Given the description of an element on the screen output the (x, y) to click on. 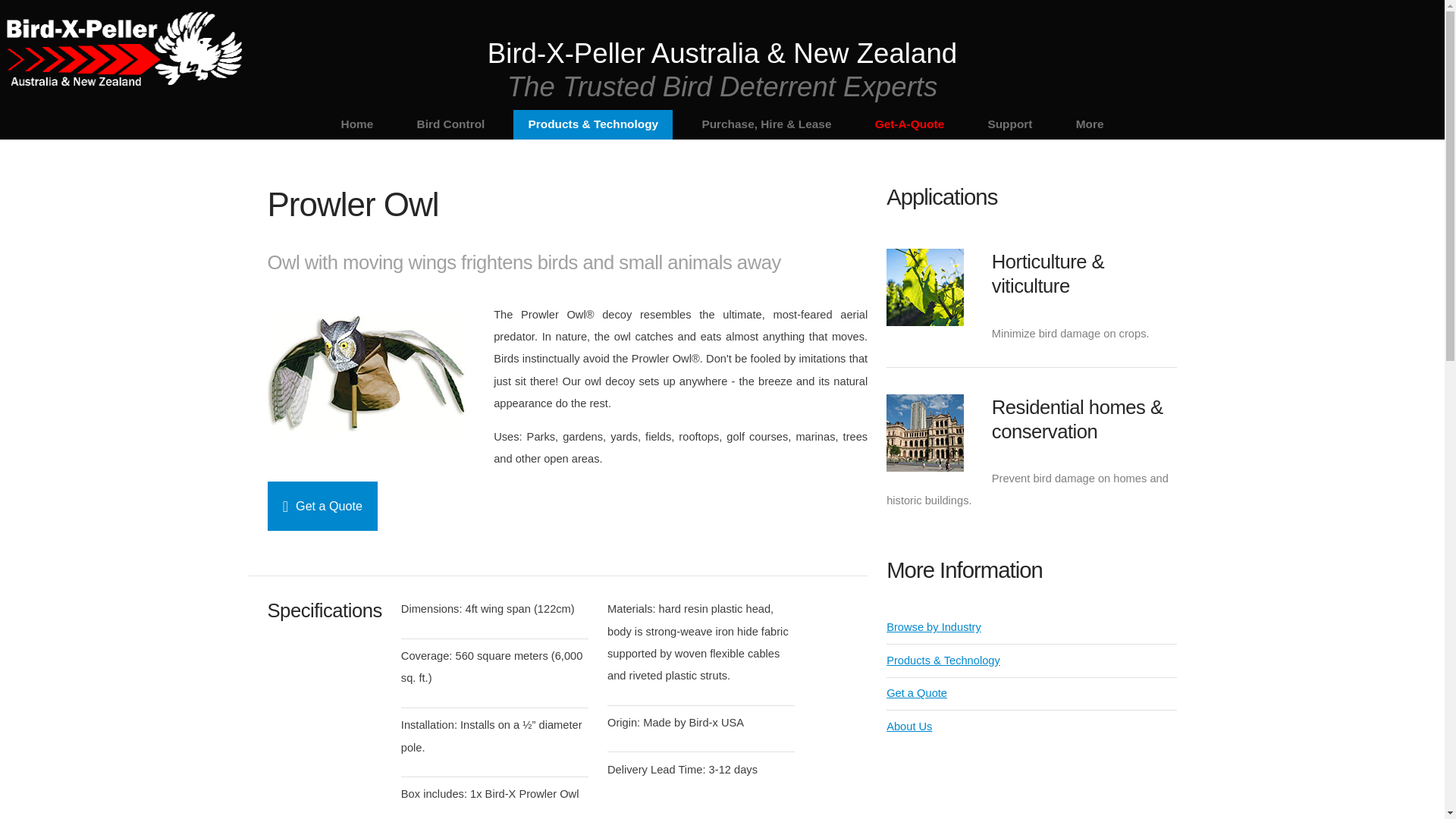
Home (356, 124)
More (1089, 124)
Get a Quote (321, 505)
Bird Control (450, 124)
Minimize bird damage on crops. (1070, 333)
Get-A-Quote (909, 124)
Support (1009, 124)
